Given the description of an element on the screen output the (x, y) to click on. 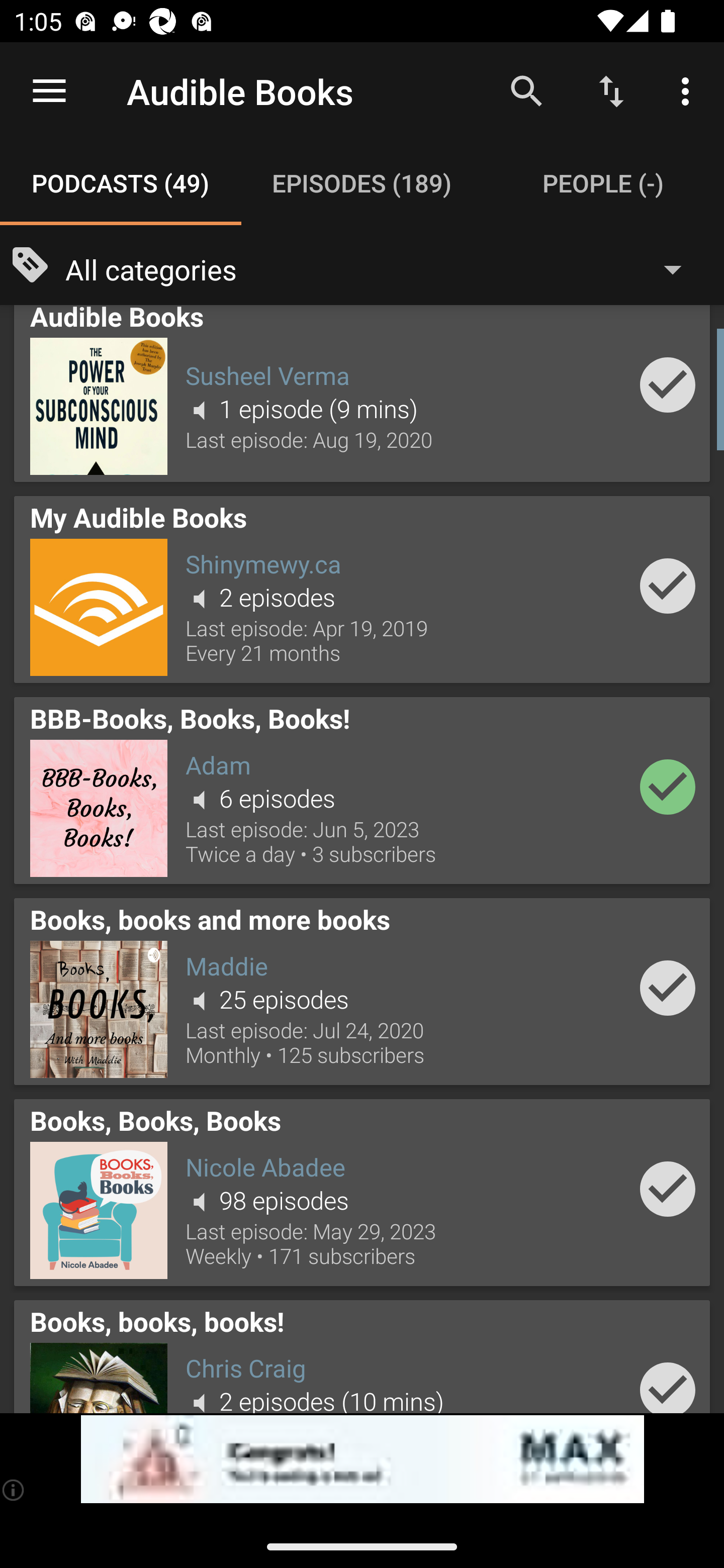
Open navigation sidebar (49, 91)
Search (526, 90)
Sort (611, 90)
More options (688, 90)
Episodes (189) EPISODES (189) (361, 183)
People (-) PEOPLE (-) (603, 183)
All categories (383, 268)
Add (667, 384)
Add (667, 586)
Add (667, 786)
Add (667, 987)
Add (667, 1188)
Add (667, 1380)
app-monetization (362, 1459)
(i) (14, 1489)
